Given the description of an element on the screen output the (x, y) to click on. 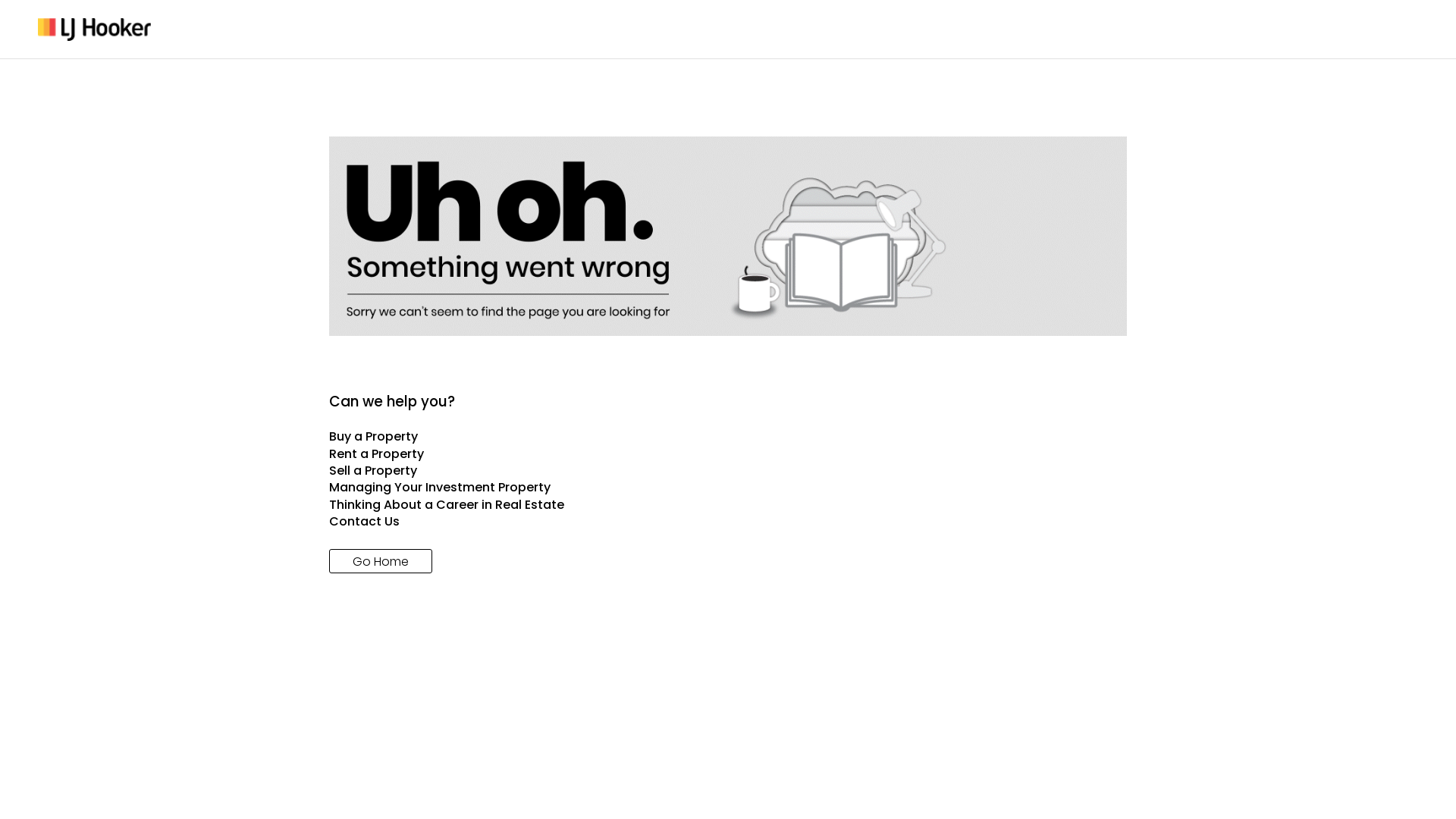
Thinking About a Career in Real Estate Element type: text (727, 504)
Go Home Element type: text (380, 561)
Rent a Property Element type: text (727, 453)
Sell a Property Element type: text (727, 470)
Buy a Property Element type: text (727, 436)
Managing Your Investment Property Element type: text (727, 487)
Contact Us Element type: text (727, 521)
